Given the description of an element on the screen output the (x, y) to click on. 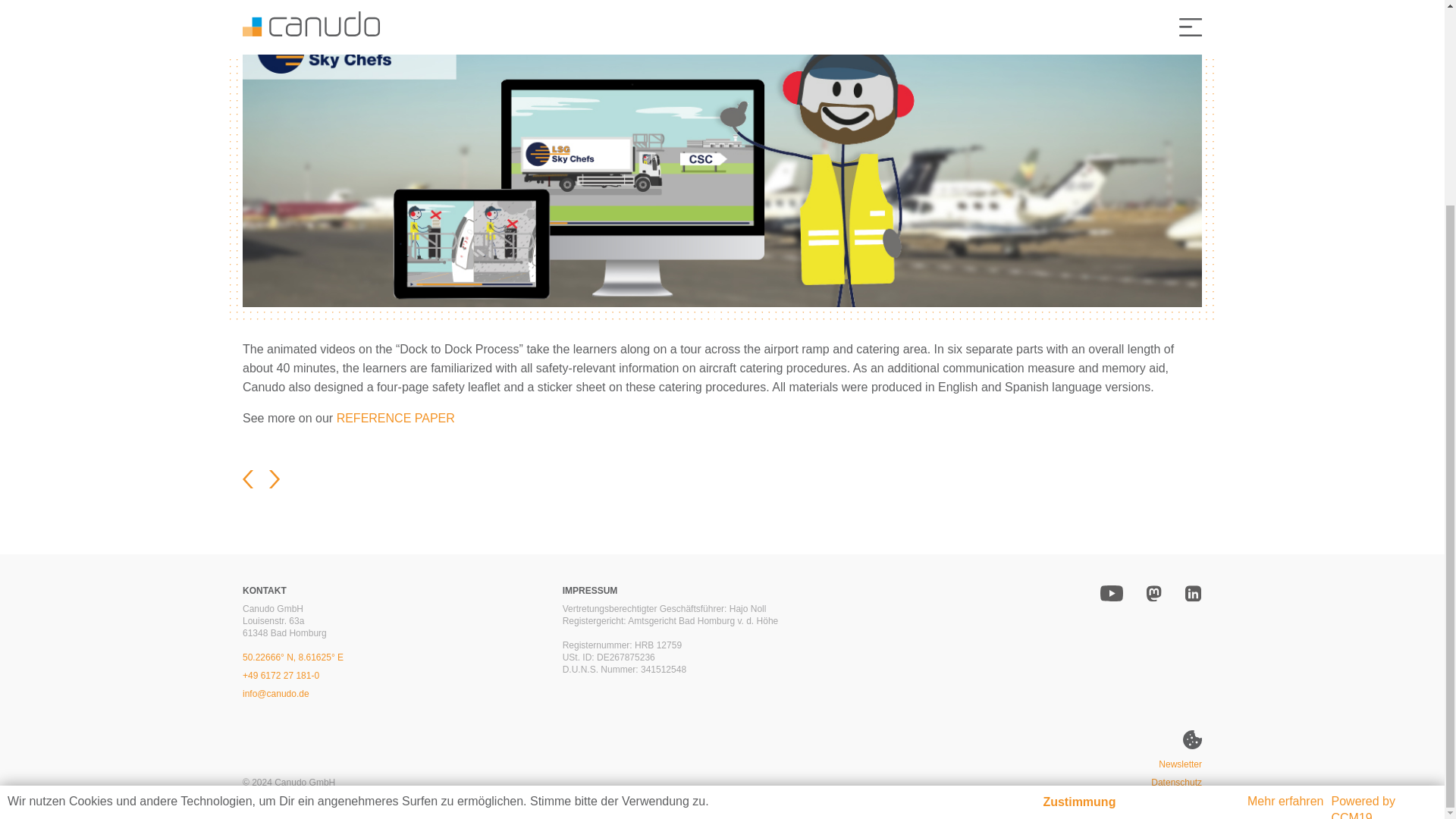
REFERENCE PAPER (395, 418)
Datenschutz (1176, 782)
Zustimmung (1078, 539)
Newsletter (1180, 764)
Powered by CCM19 (1364, 544)
Mehr erfahren (1285, 536)
